Given the description of an element on the screen output the (x, y) to click on. 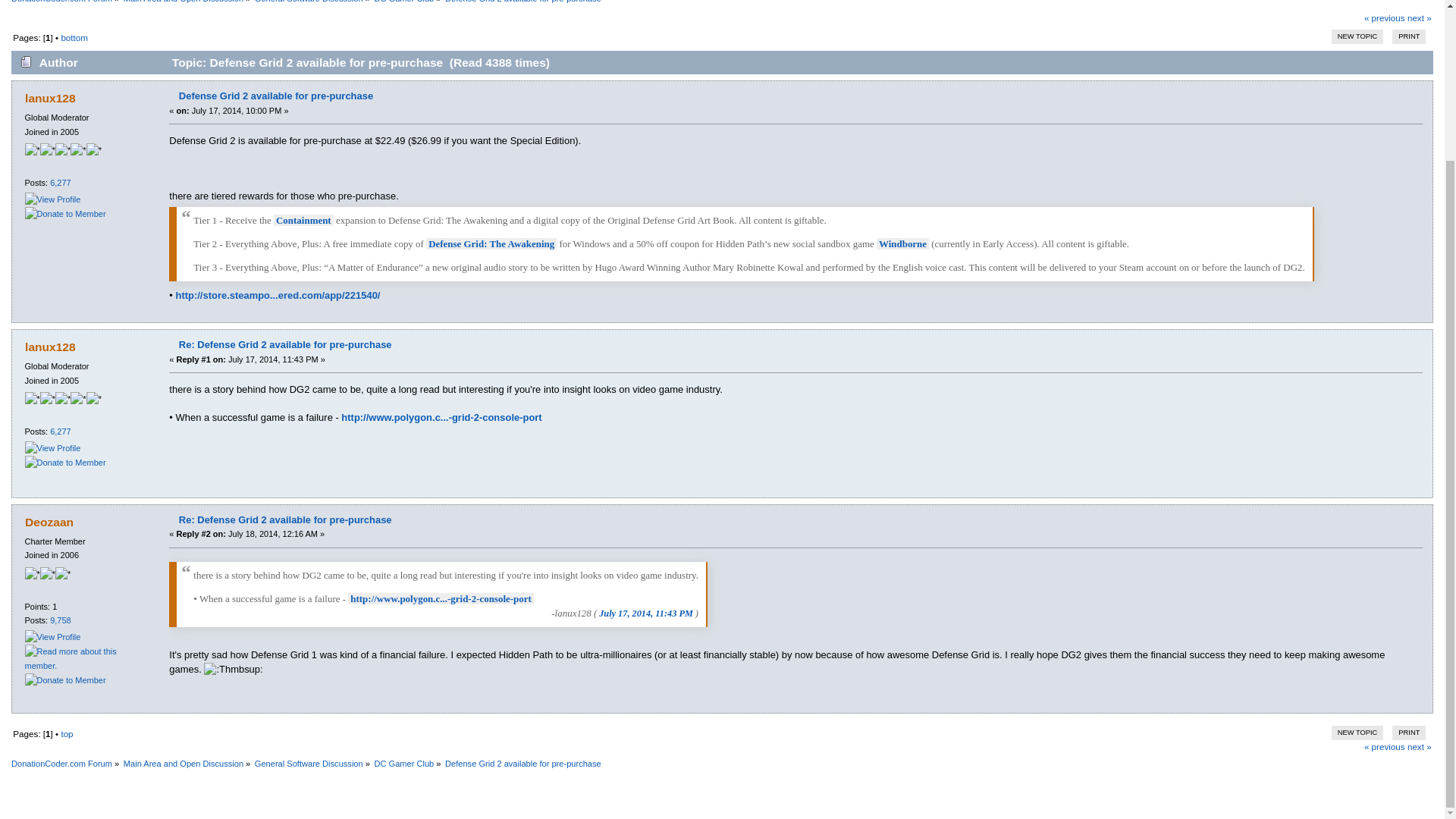
Donate to Member (65, 214)
View Profile (52, 199)
View the profile of lanux128 (49, 97)
Donate to Member (65, 462)
View Profile (52, 448)
View the profile of lanux128 (49, 346)
